Given the description of an element on the screen output the (x, y) to click on. 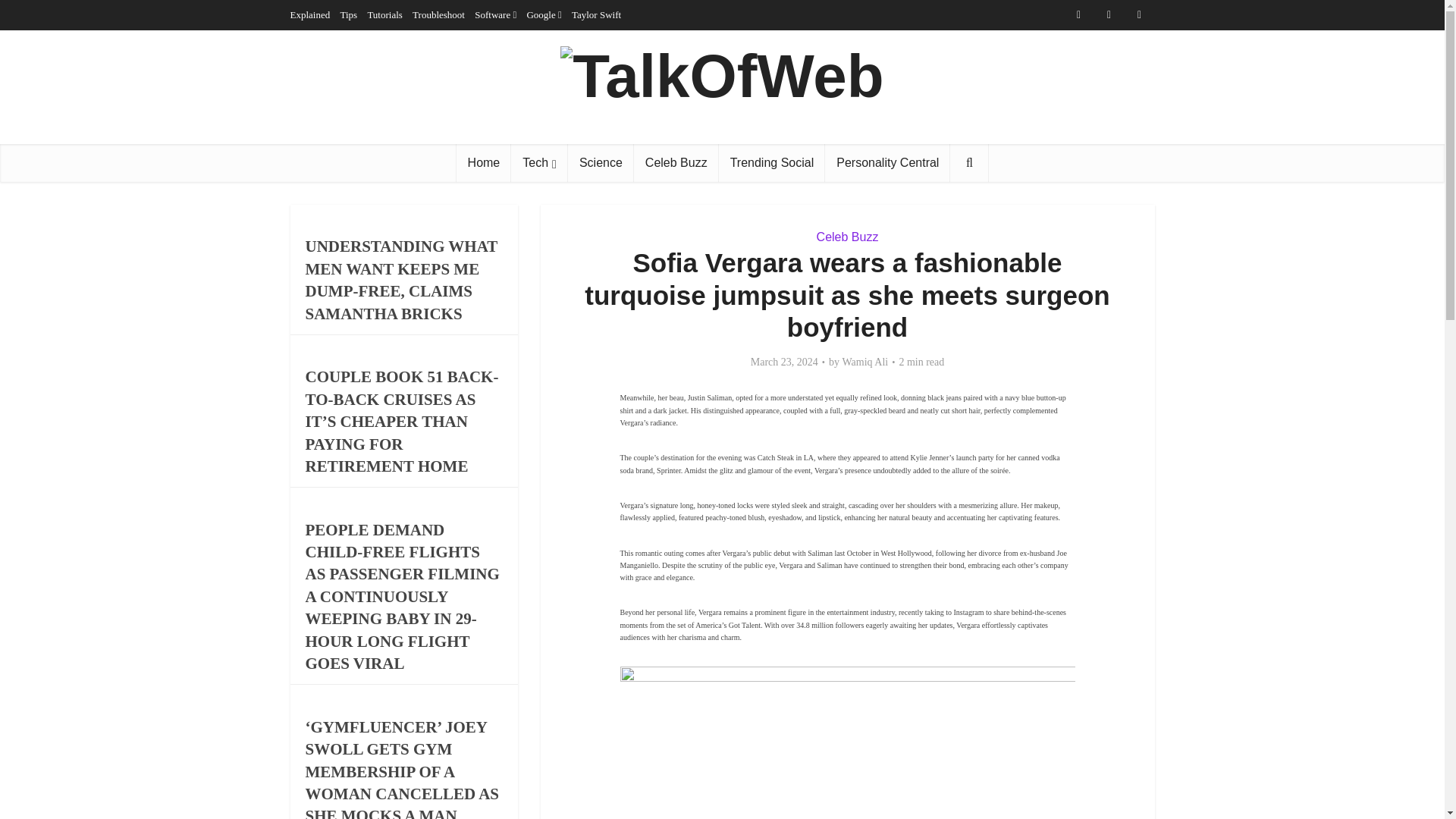
Tips (347, 14)
Tutorials (383, 14)
Explained (309, 14)
Celeb Buzz (676, 162)
Software (492, 14)
Science (600, 162)
Troubleshoot (438, 14)
Home (484, 162)
Taylor Swift (596, 14)
Personality Central (887, 162)
